Given the description of an element on the screen output the (x, y) to click on. 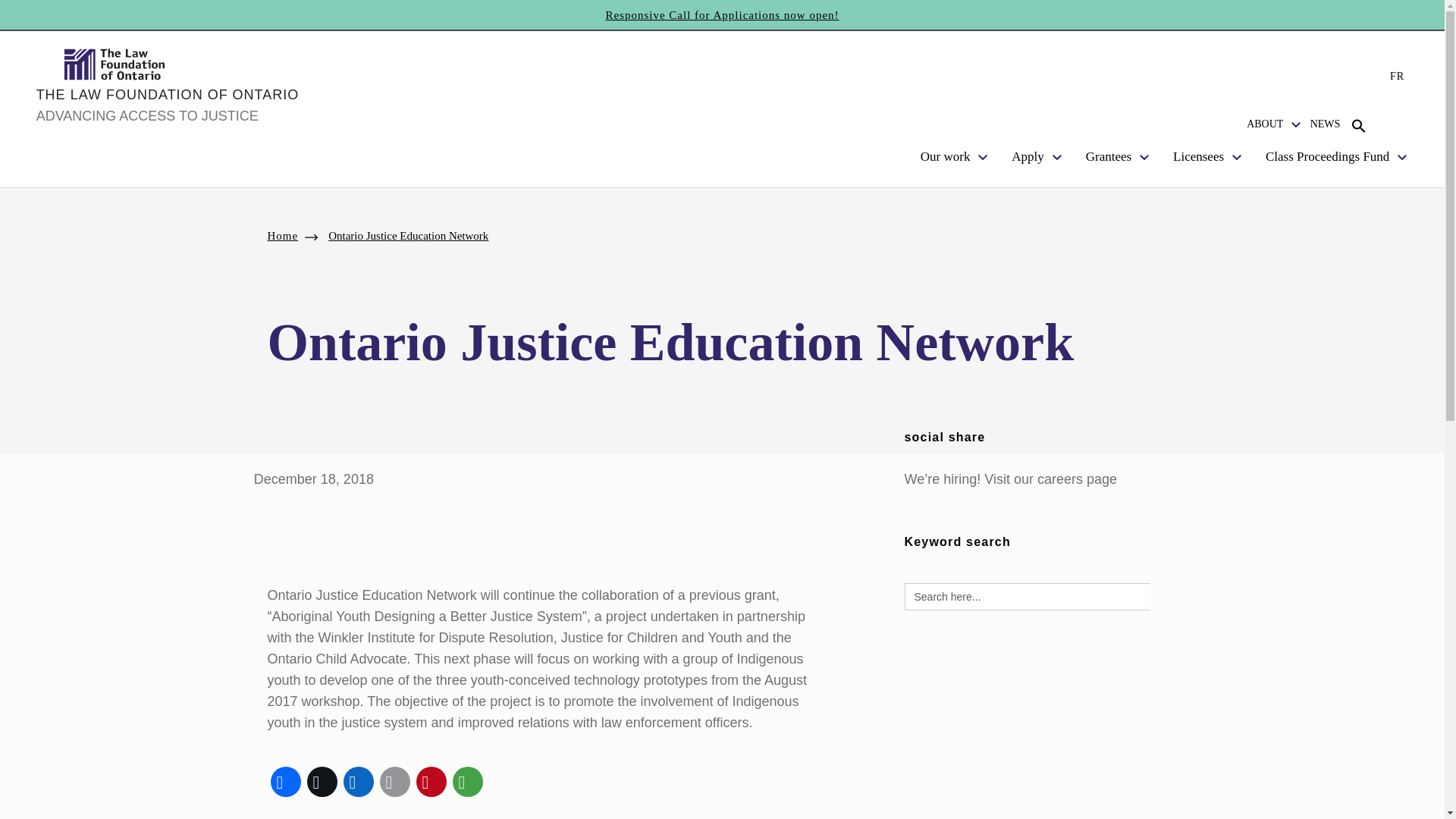
Email This (393, 781)
Grantees (1110, 156)
Responsive Call for Applications now open! (721, 15)
Our work (947, 156)
Pinterest (430, 781)
LinkedIn (357, 781)
Facebook (284, 781)
Apply (1028, 156)
ABOUT (1266, 124)
More Options (466, 781)
